Given the description of an element on the screen output the (x, y) to click on. 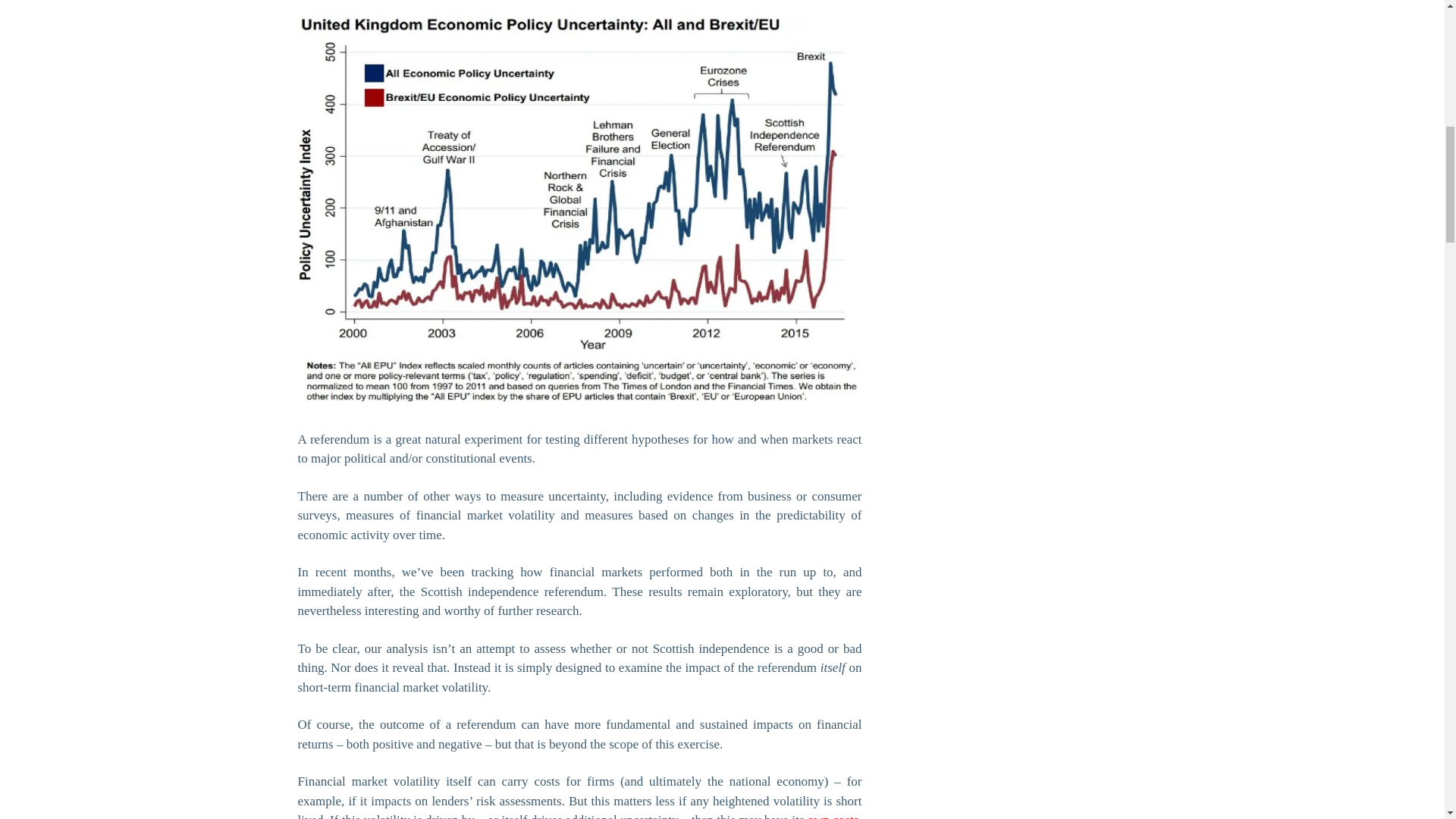
own costs (833, 816)
